Given the description of an element on the screen output the (x, y) to click on. 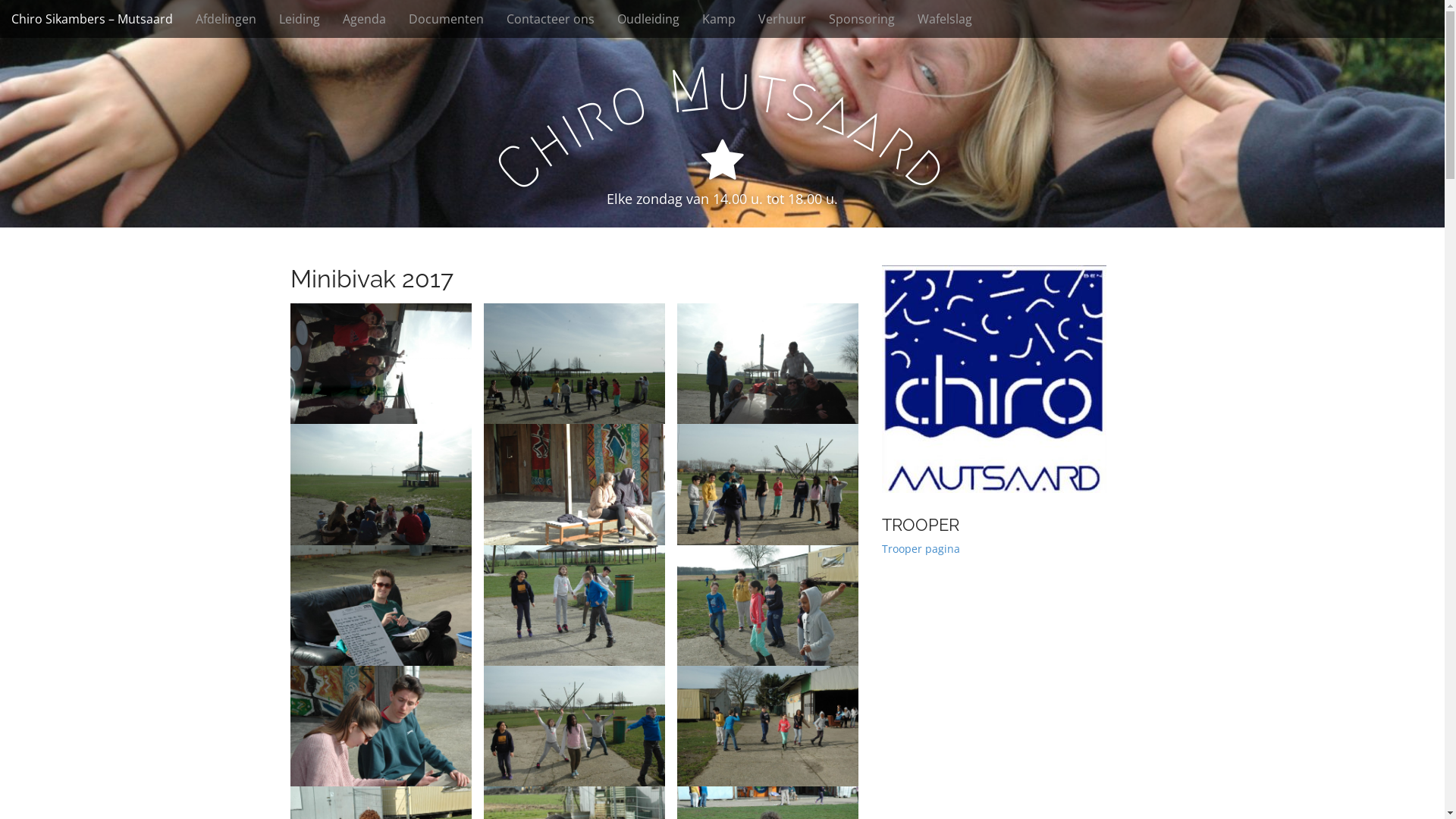
Verhuur Element type: text (781, 18)
Leiding Element type: text (299, 18)
Documenten Element type: text (446, 18)
Oudleiding Element type: text (647, 18)
Trooper pagina Element type: text (920, 548)
Sponsoring Element type: text (861, 18)
Contacteer ons Element type: text (550, 18)
Afdelingen Element type: text (225, 18)
Kamp Element type: text (718, 18)
Agenda Element type: text (364, 18)
Wafelslag Element type: text (944, 18)
Chiro Mutsaard Element type: text (722, 87)
